Given the description of an element on the screen output the (x, y) to click on. 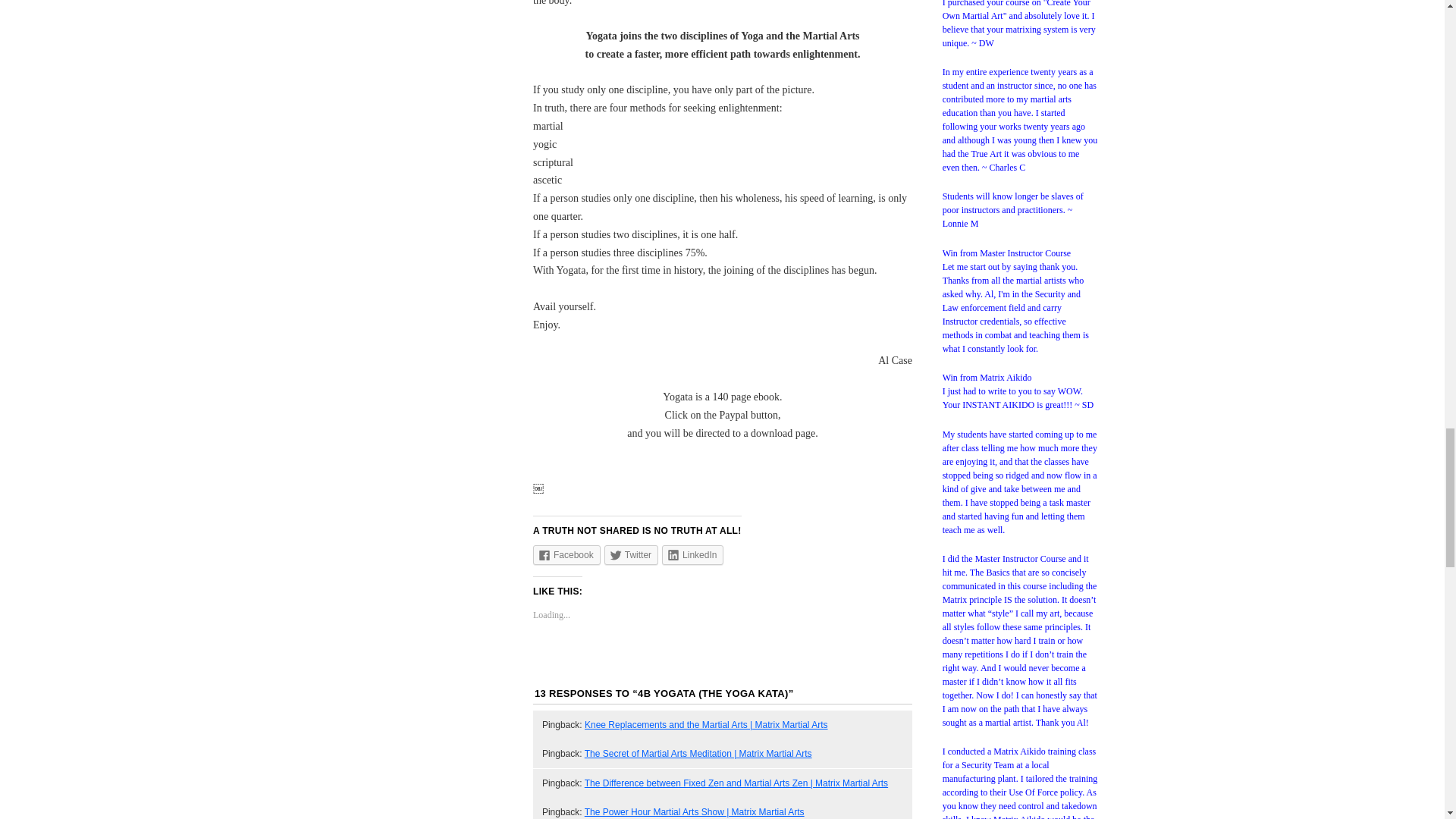
Click to share on LinkedIn (692, 555)
Twitter (631, 555)
Click to share on Twitter (631, 555)
LinkedIn (692, 555)
Click to share on Facebook (565, 555)
Facebook (565, 555)
